Given the description of an element on the screen output the (x, y) to click on. 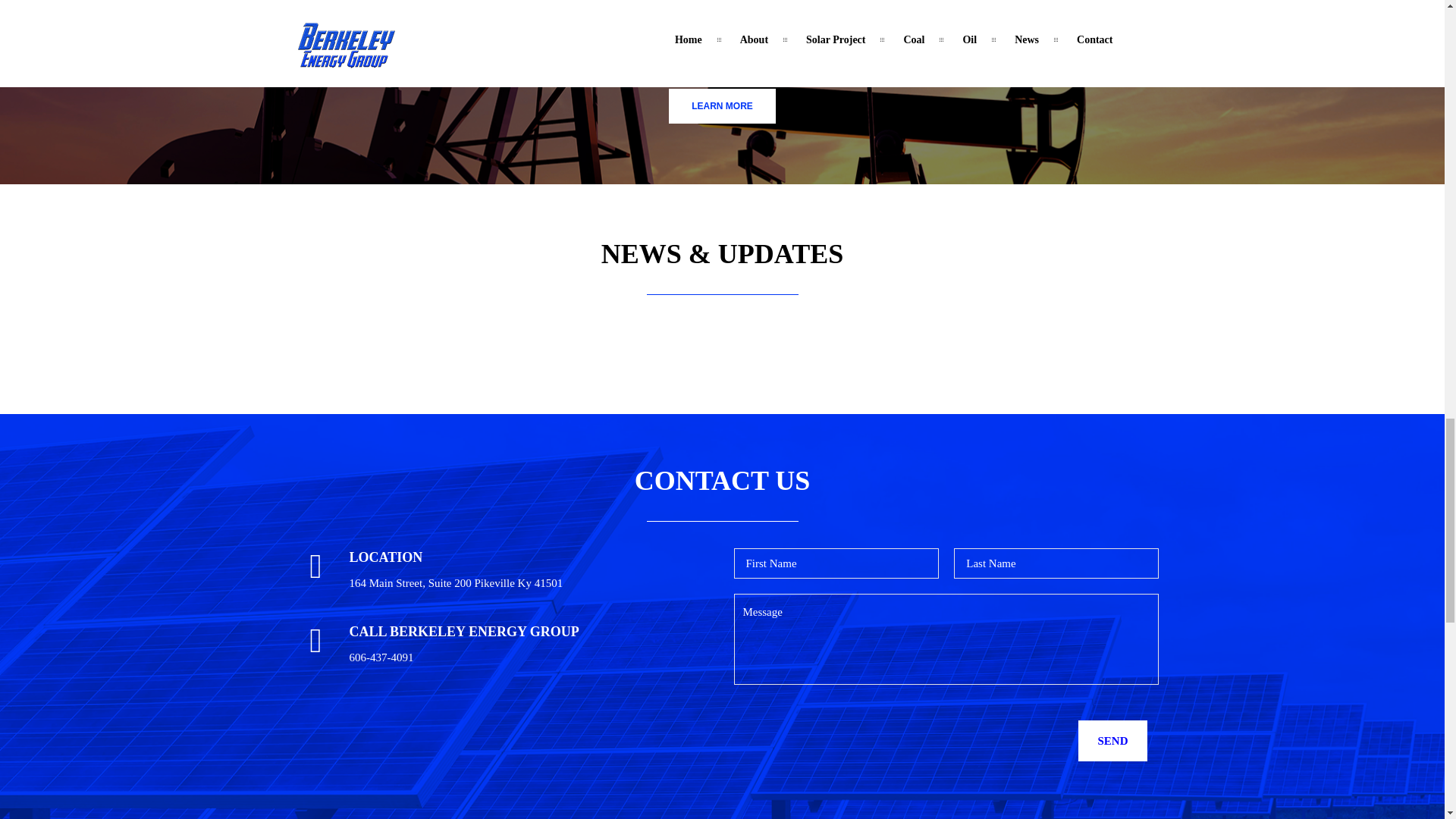
LEARN MORE (722, 106)
Send (1112, 740)
Send (1112, 740)
606-437-4091 (381, 657)
